Given the description of an element on the screen output the (x, y) to click on. 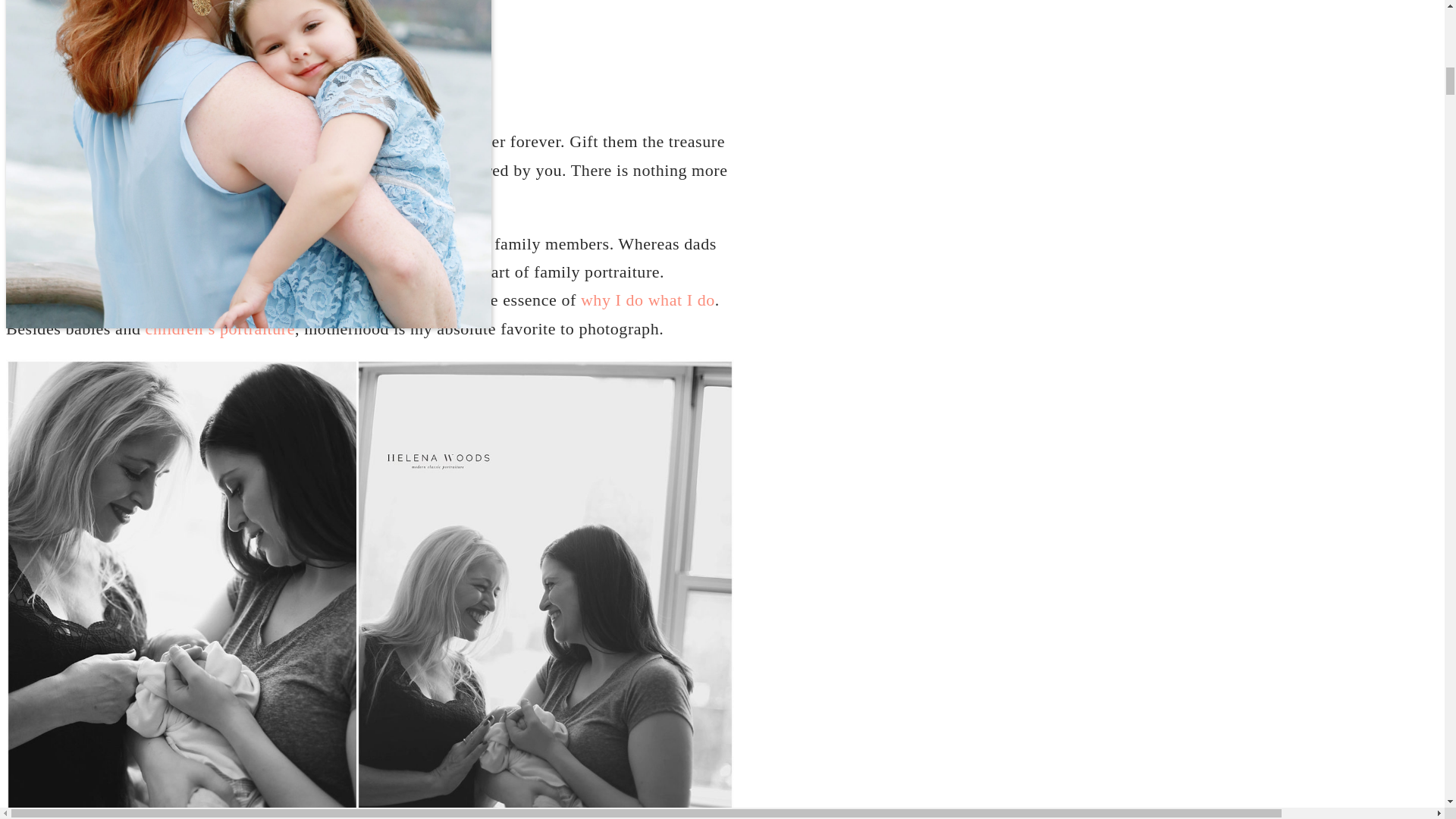
why I do what I do (647, 299)
